Given the description of an element on the screen output the (x, y) to click on. 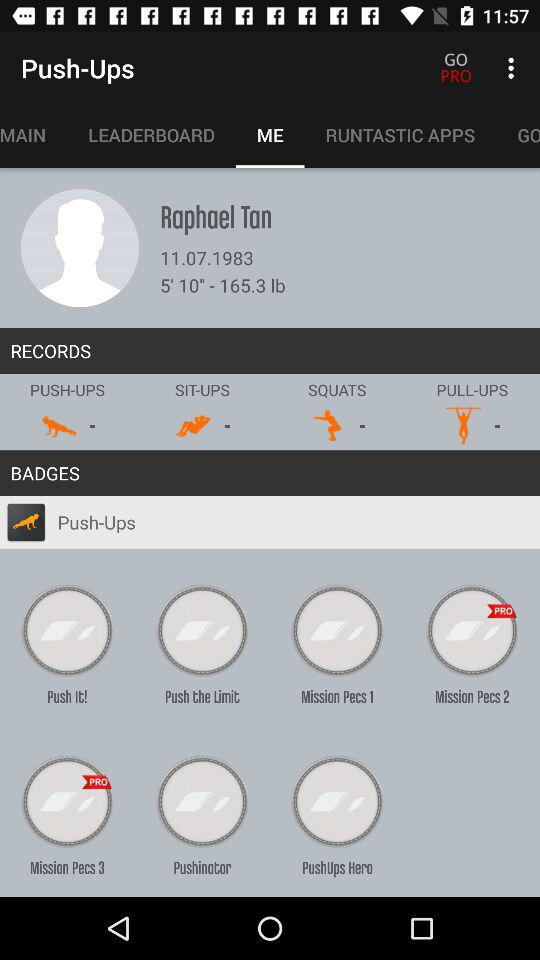
turn off icon to the left of the me item (151, 135)
